Given the description of an element on the screen output the (x, y) to click on. 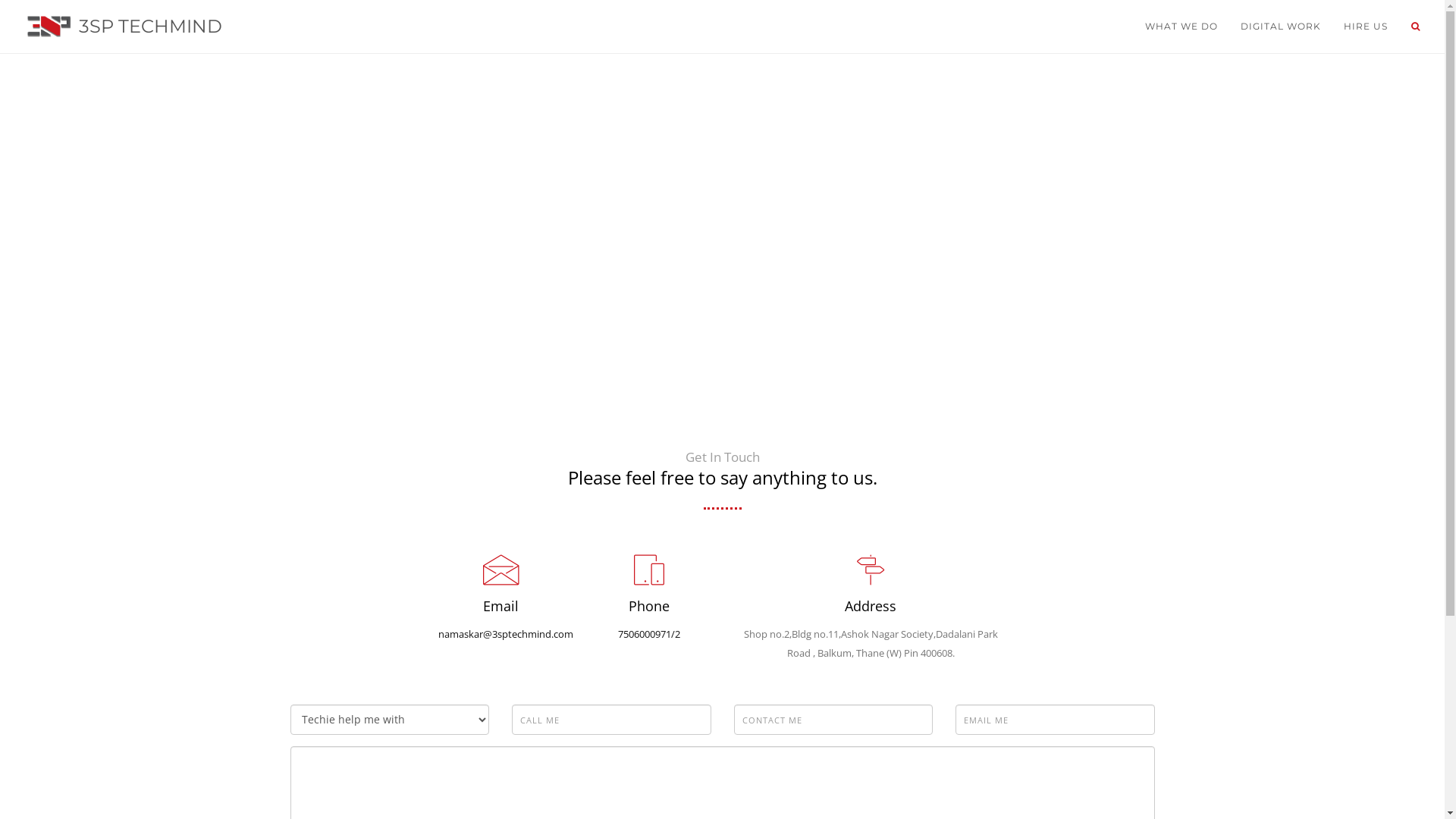
Track Ticket Element type: hover (1416, 26)
HIRE US Element type: text (1365, 26)
namaskar@3sptechmind.com Element type: text (505, 633)
DIGITAL WORK Element type: text (1280, 26)
7506000971/2 Element type: text (648, 633)
WHAT WE DO Element type: text (1181, 26)
3SP TECHMIND Element type: text (116, 26)
